Given the description of an element on the screen output the (x, y) to click on. 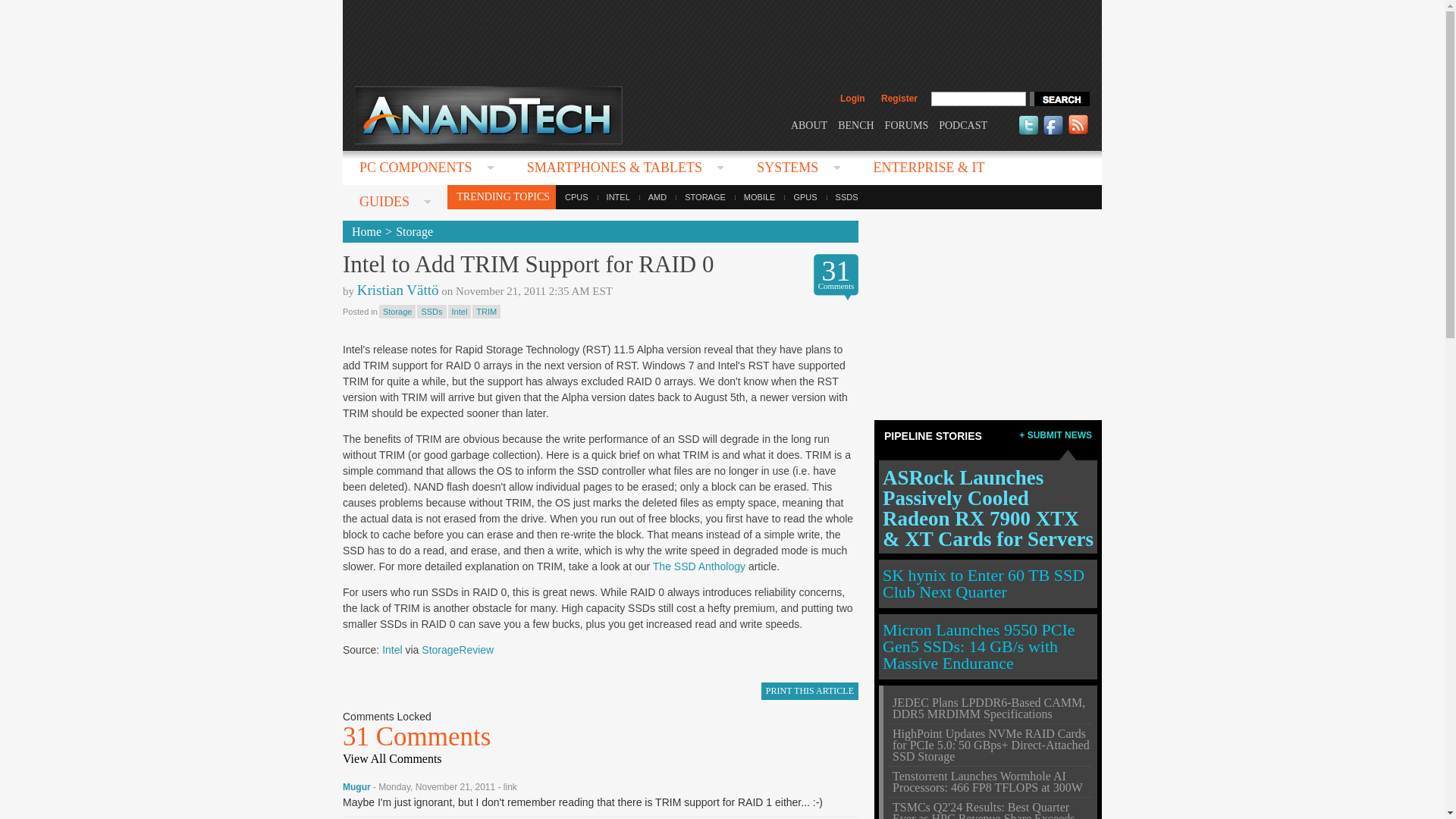
Login (852, 98)
Register (898, 98)
search (1059, 98)
search (1059, 98)
FORUMS (906, 125)
search (1059, 98)
ABOUT (808, 125)
BENCH (855, 125)
PODCAST (963, 125)
